Given the description of an element on the screen output the (x, y) to click on. 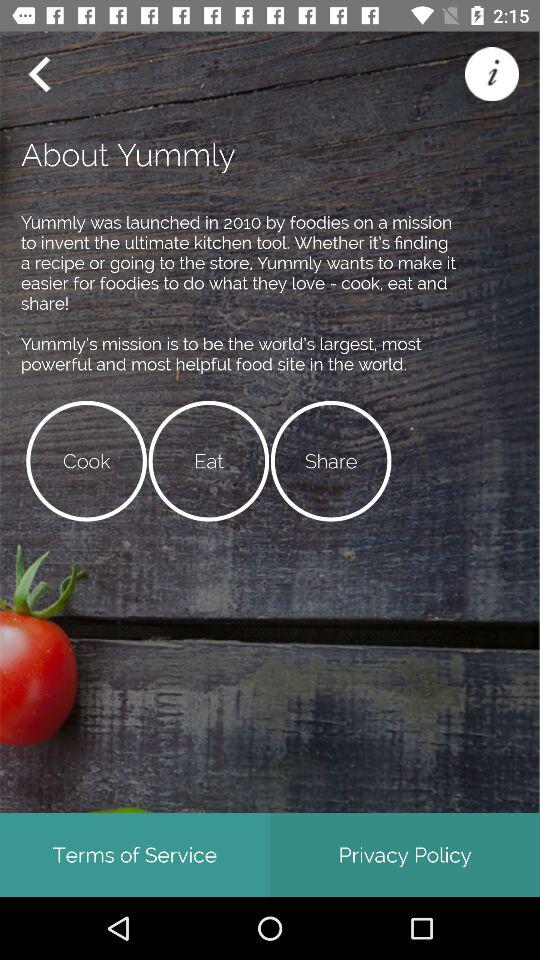
view more information (492, 74)
